Given the description of an element on the screen output the (x, y) to click on. 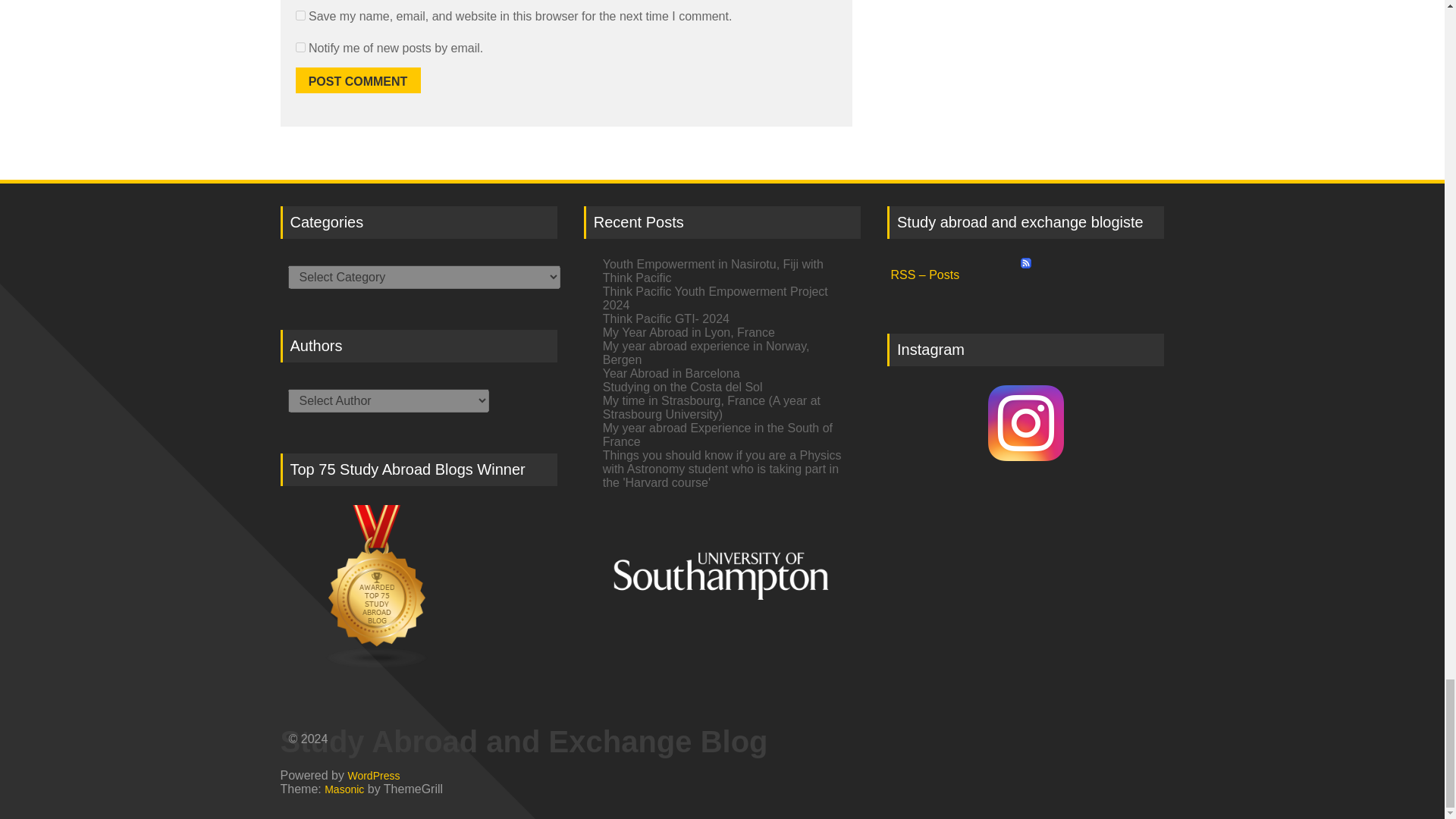
Masonic (344, 788)
Instagram (1024, 422)
Study Abroad Blogs (418, 587)
yes (300, 15)
Subscribe to posts (1024, 269)
subscribe (300, 47)
Post Comment (357, 80)
WordPress (372, 775)
Post Comment (357, 80)
